Given the description of an element on the screen output the (x, y) to click on. 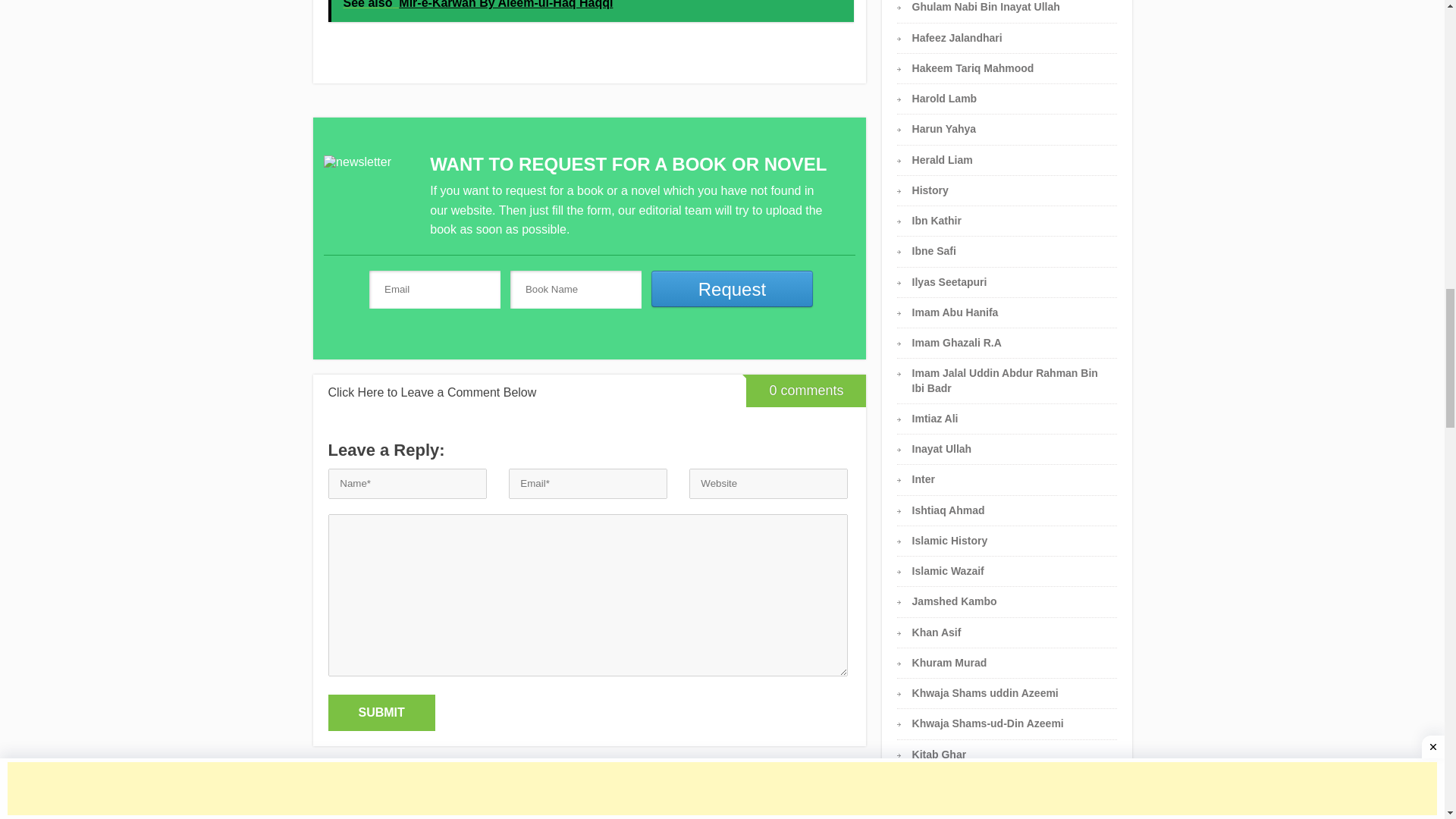
See also  Mir-e-Karwan By Aleem-ul-Haq Haqqi (590, 11)
SUBMIT (380, 712)
Request (732, 288)
SUBMIT (380, 712)
Request (732, 288)
